Given the description of an element on the screen output the (x, y) to click on. 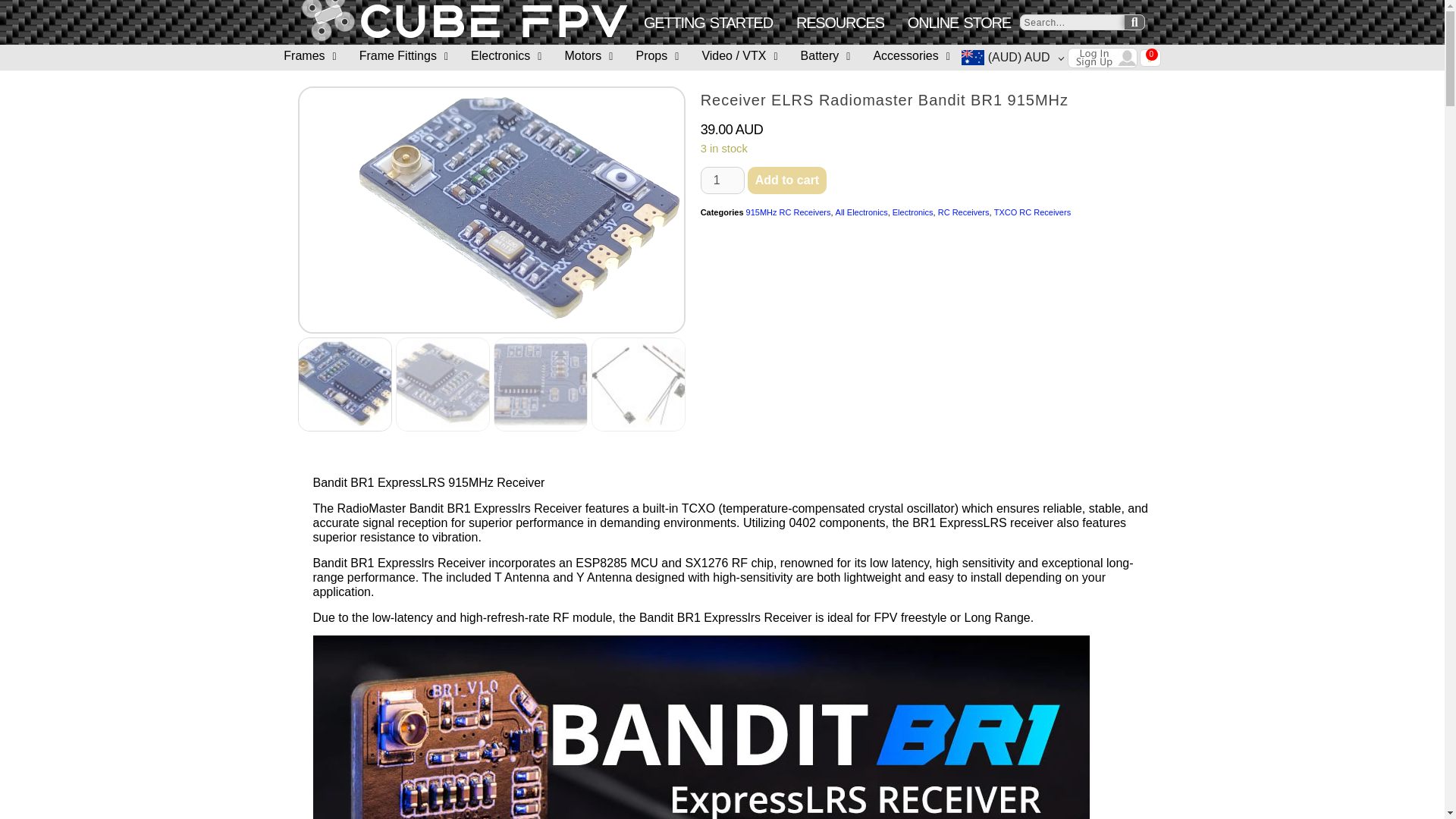
RESOURCES (839, 22)
1 (722, 180)
LogInSignUp (1102, 57)
Receiver ELRS Radiomaster Bandit BR1 915MHz 01 (515, 209)
Frame Fittings (403, 56)
ONLINE STORE (958, 22)
GETTING STARTED (708, 22)
Frames (309, 56)
Electronics (505, 56)
